Given the description of an element on the screen output the (x, y) to click on. 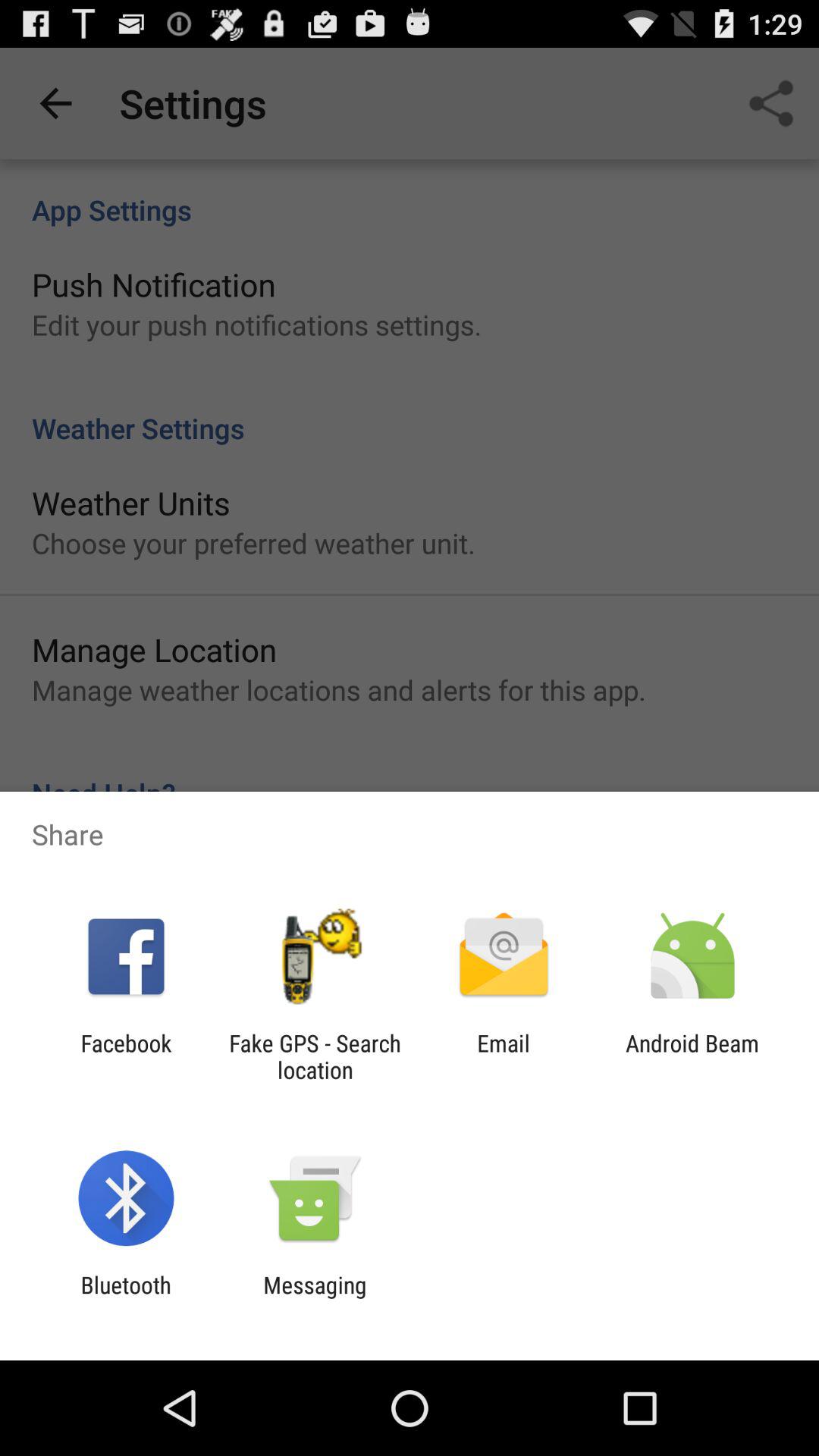
turn off app next to the android beam icon (503, 1056)
